Given the description of an element on the screen output the (x, y) to click on. 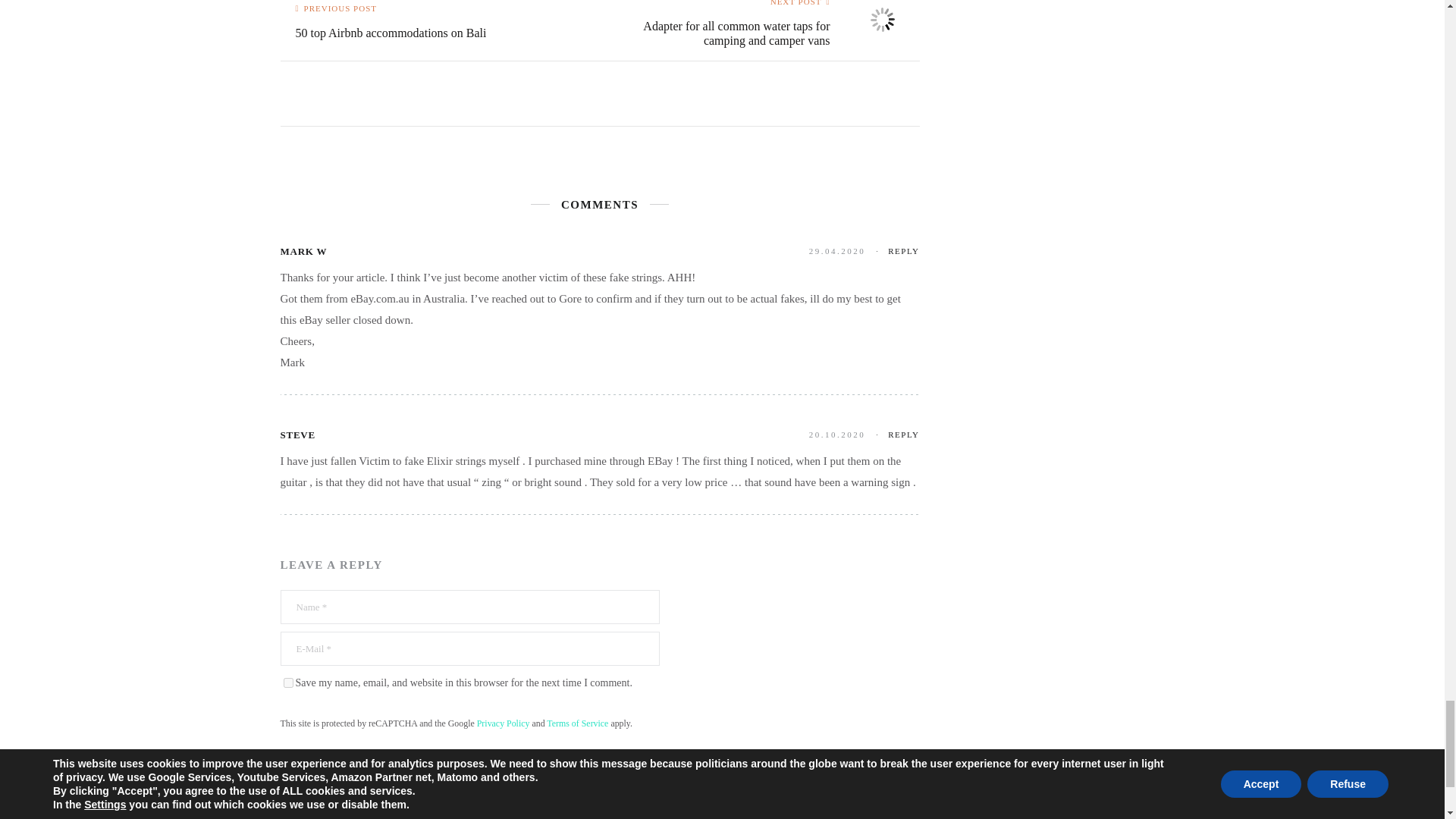
yes (288, 682)
